Given the description of an element on the screen output the (x, y) to click on. 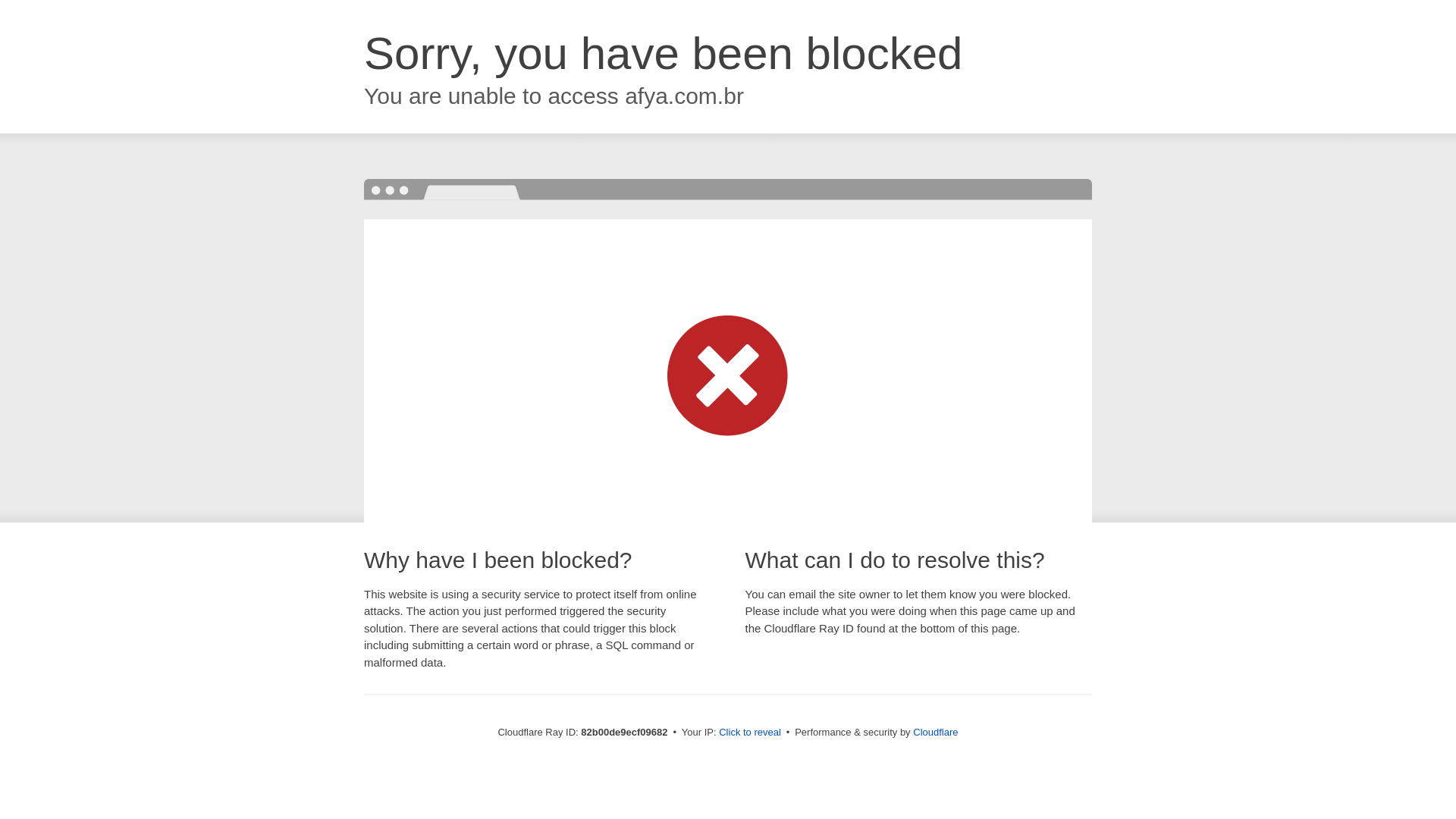
Click to reveal Element type: text (749, 732)
Cloudflare Element type: text (935, 731)
